Given the description of an element on the screen output the (x, y) to click on. 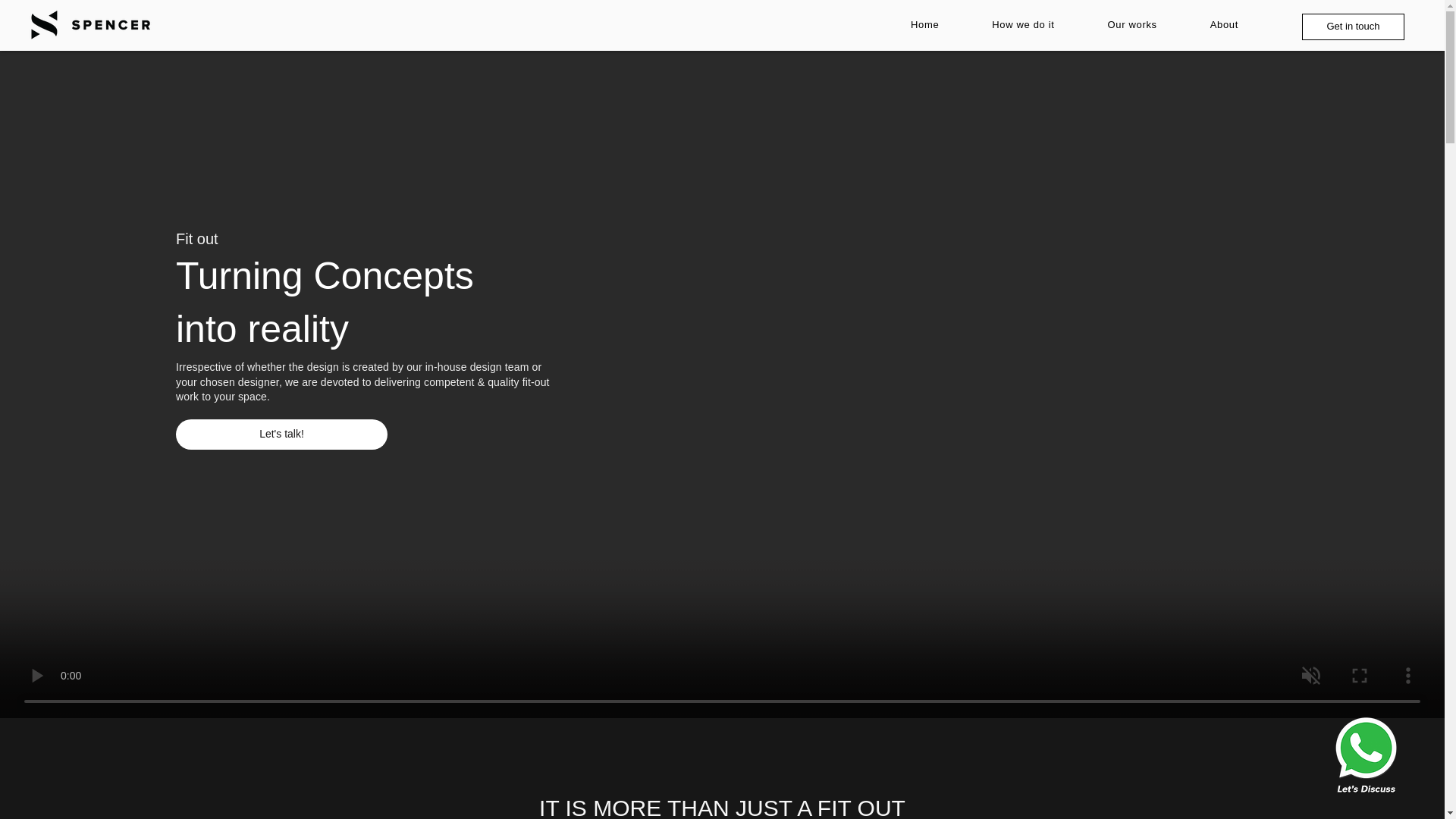
How we do it (1022, 24)
Let's talk! (281, 434)
Our works (1132, 24)
Get in touch (1353, 26)
About (1224, 24)
Home (924, 24)
